Given the description of an element on the screen output the (x, y) to click on. 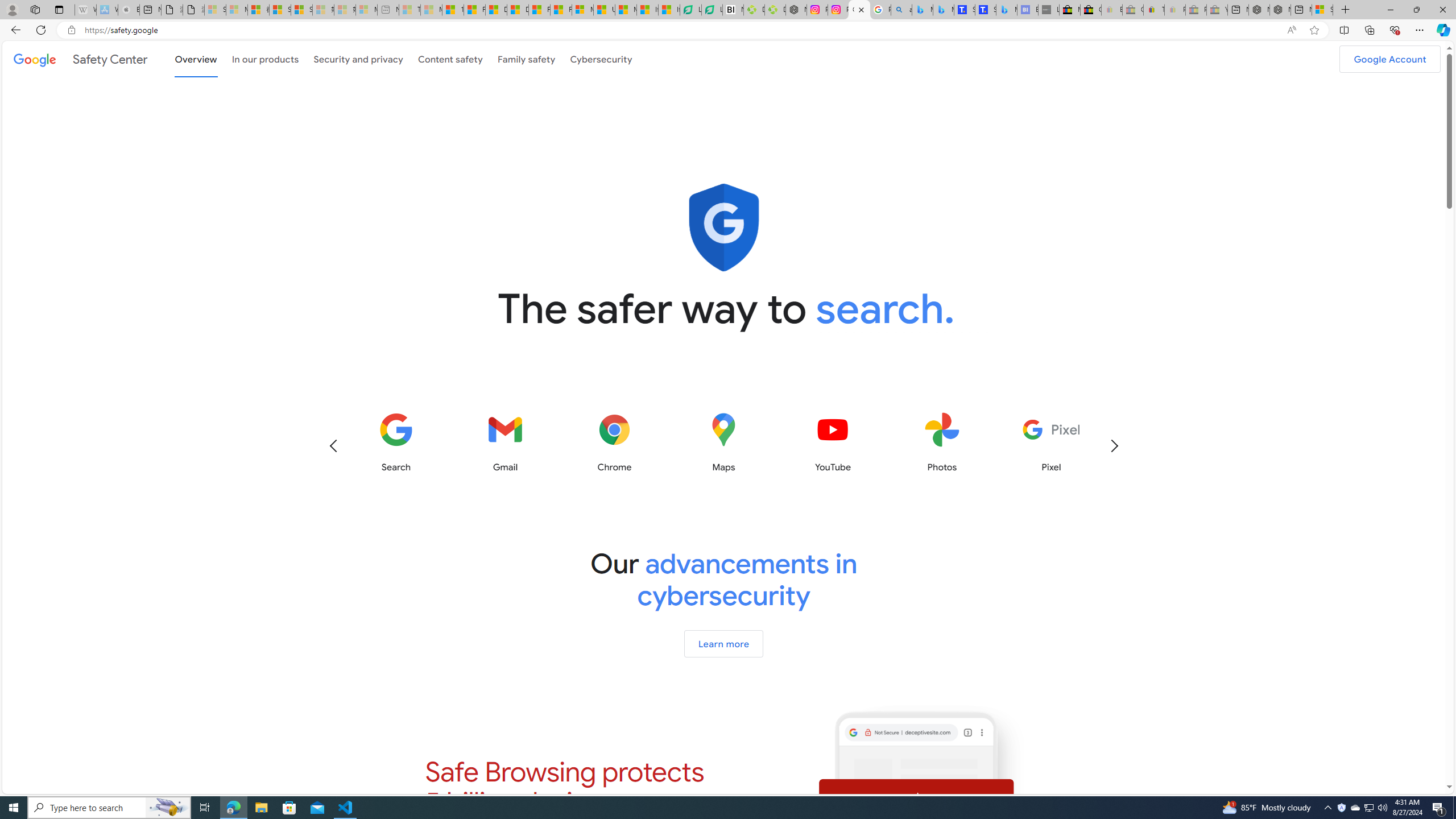
Chrome (614, 443)
Learn more about Chrome (614, 443)
Nvidia va a poner a prueba la paciencia de los inversores (732, 9)
Content safety (450, 58)
YouTube (832, 443)
Next (1113, 445)
Cybersecurity (600, 58)
Buy iPad - Apple - Sleeping (128, 9)
Microsoft account | Account Checkup - Sleeping (365, 9)
Foo BAR | Trusted Community Engagement and Contributions (561, 9)
Family safety (526, 58)
Google Safety Center - Stay Safer Online (859, 9)
